Given the description of an element on the screen output the (x, y) to click on. 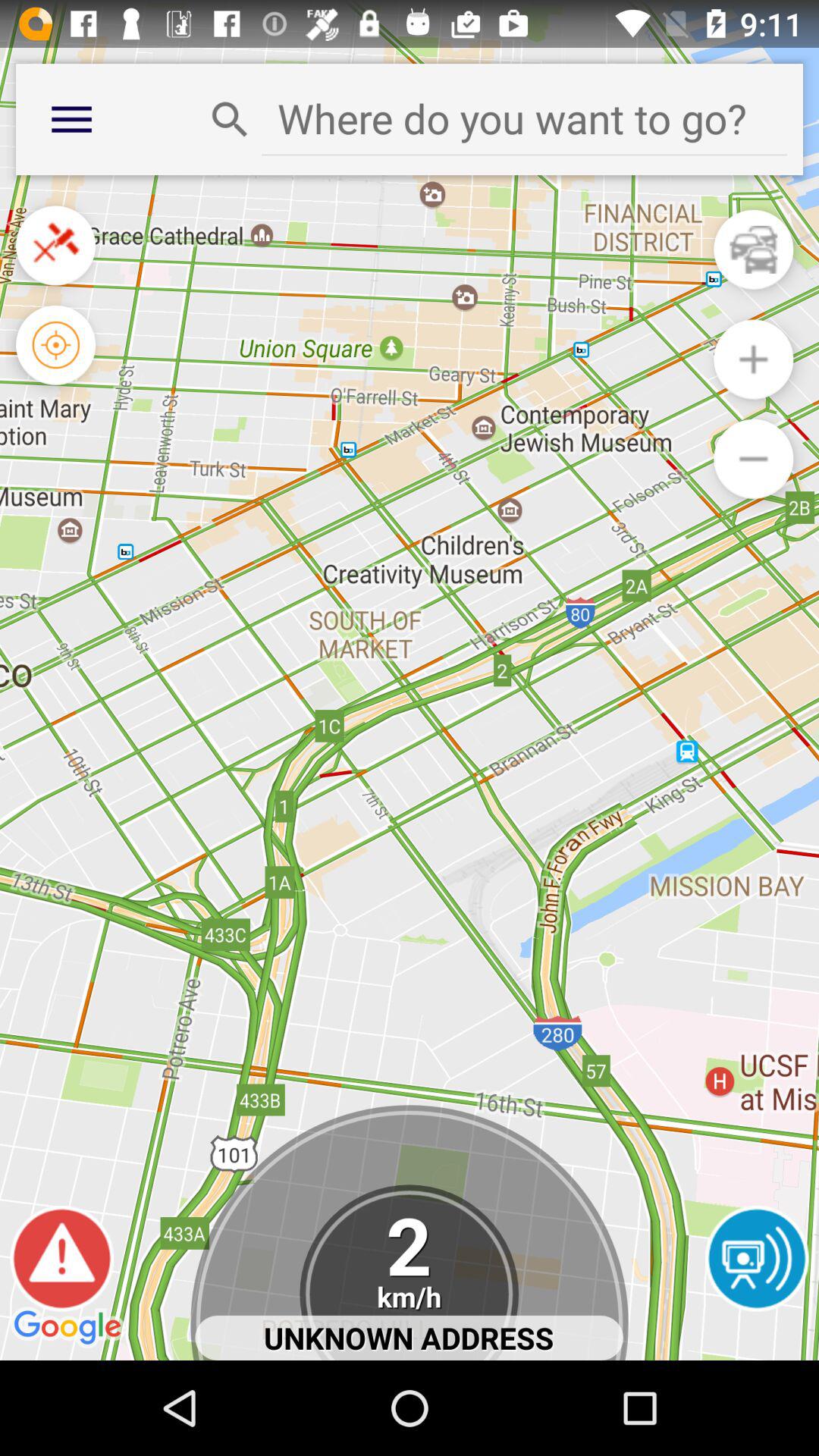
traffic information (753, 249)
